Given the description of an element on the screen output the (x, y) to click on. 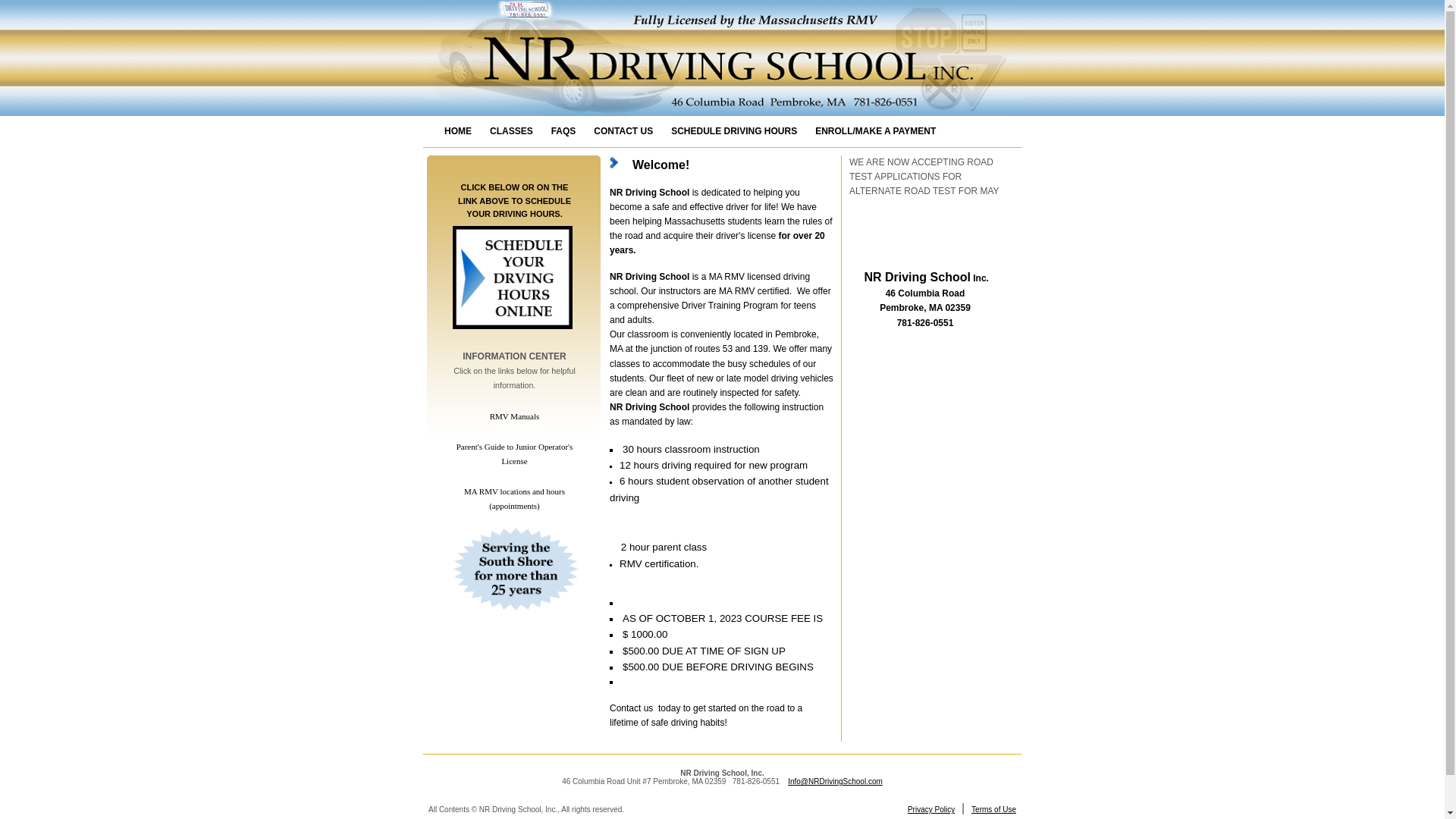
FAQS (563, 131)
CONTACT US (623, 131)
HOME (457, 131)
Terms of Use (993, 809)
FAQs (563, 131)
Contact Us (623, 131)
CLASSES (510, 131)
RMV Manuals (514, 416)
Classes (510, 131)
Parent's Guide to Junior Operator's License (515, 453)
SCHEDULE DRIVING HOURS (734, 131)
Privacy Policy (931, 809)
Home (457, 131)
